Given the description of an element on the screen output the (x, y) to click on. 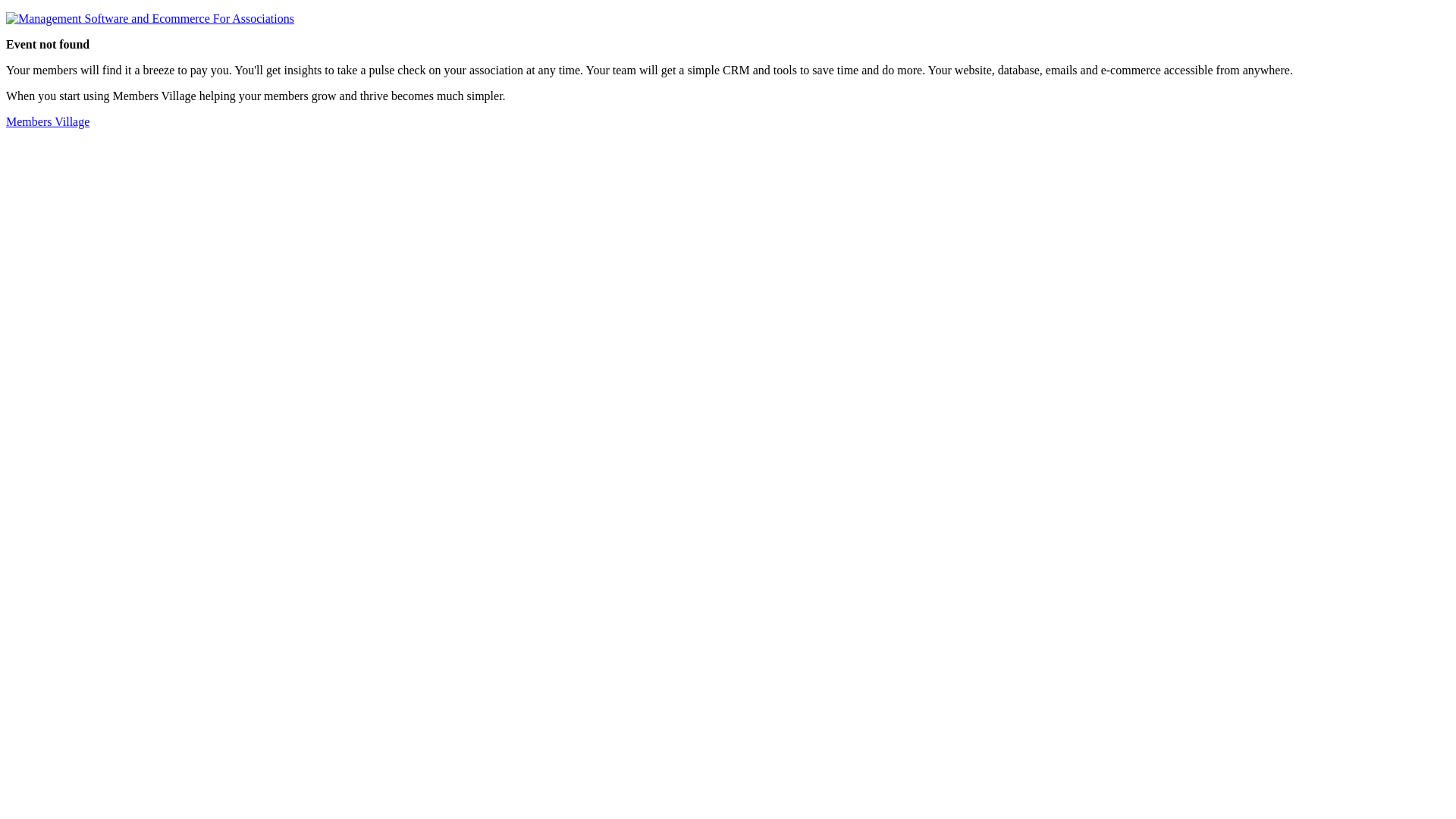
Members Village Element type: text (47, 121)
